Given the description of an element on the screen output the (x, y) to click on. 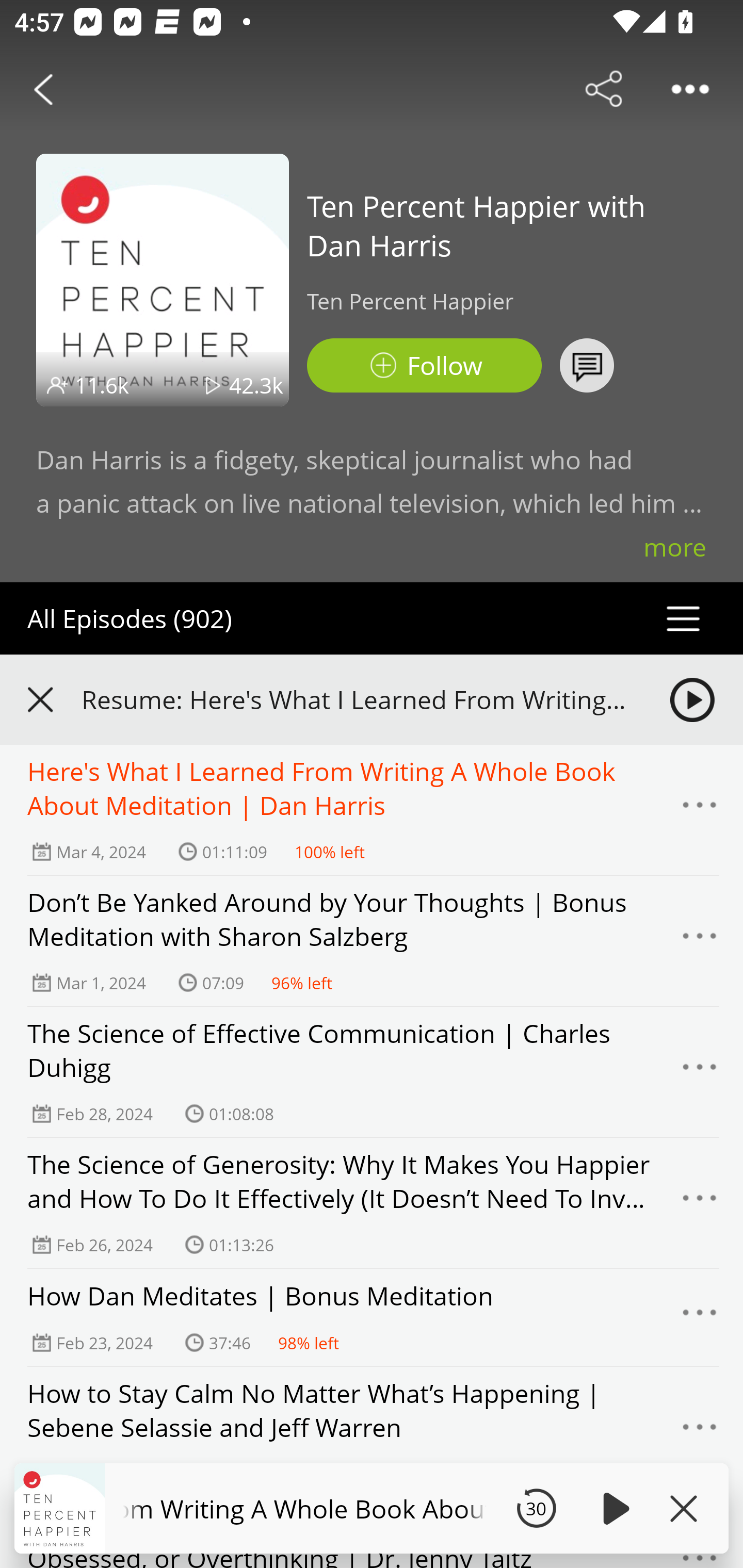
Back (43, 88)
Podbean Follow (423, 365)
11.6k (102, 384)
more (674, 546)
Menu (699, 809)
Menu (699, 941)
Menu (699, 1072)
Menu (699, 1203)
Menu (699, 1317)
Menu (699, 1432)
Play (613, 1507)
30 Seek Backward (536, 1508)
